Given the description of an element on the screen output the (x, y) to click on. 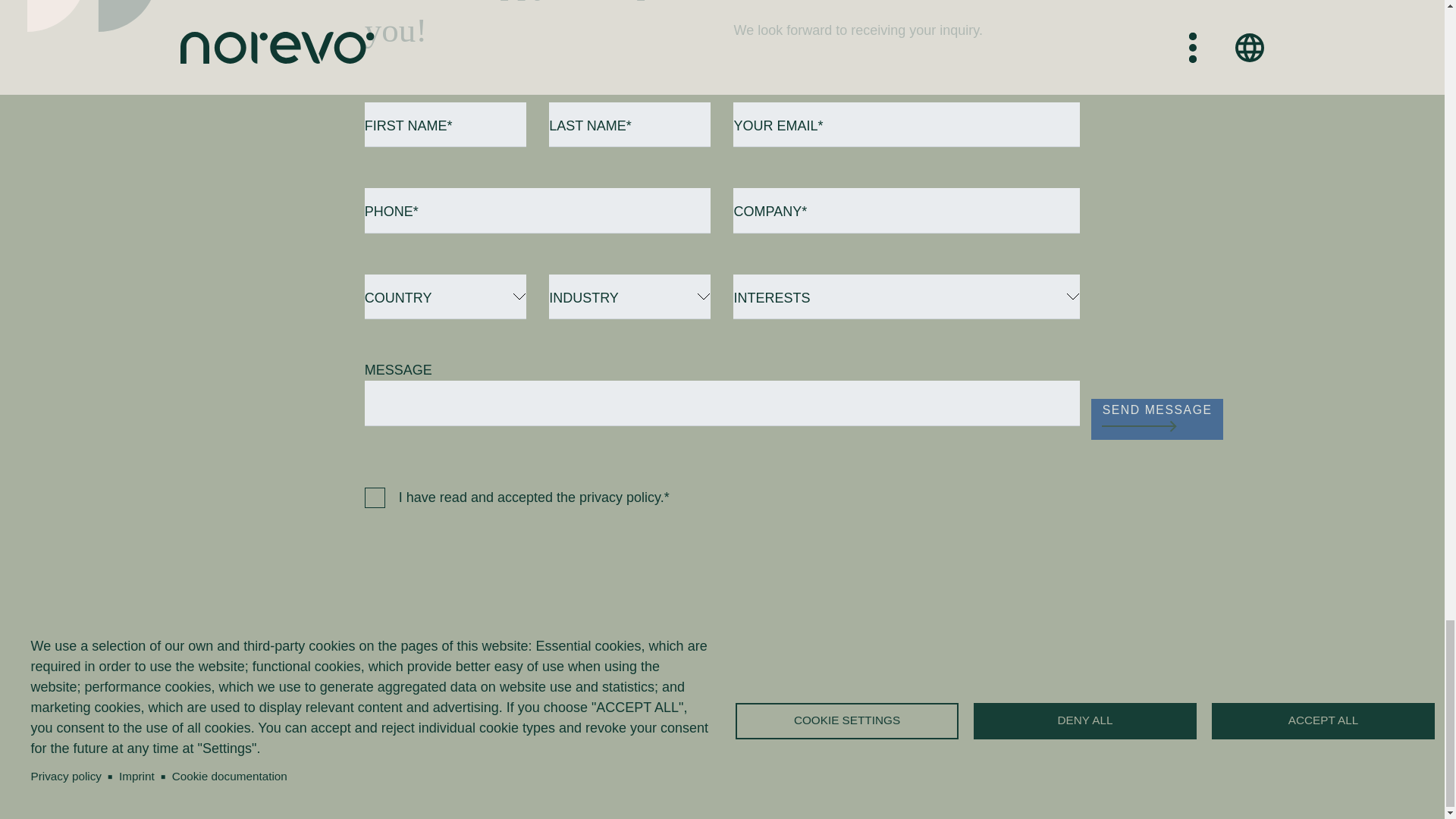
Send message (1156, 418)
PARTNER LOGIN (972, 729)
XING (658, 688)
IMPRINT (946, 667)
Send message (1156, 418)
PRIVACY POLICY (974, 688)
LINKEDIN (673, 667)
privacy policy (620, 497)
DOWNLOADS (962, 708)
